Given the description of an element on the screen output the (x, y) to click on. 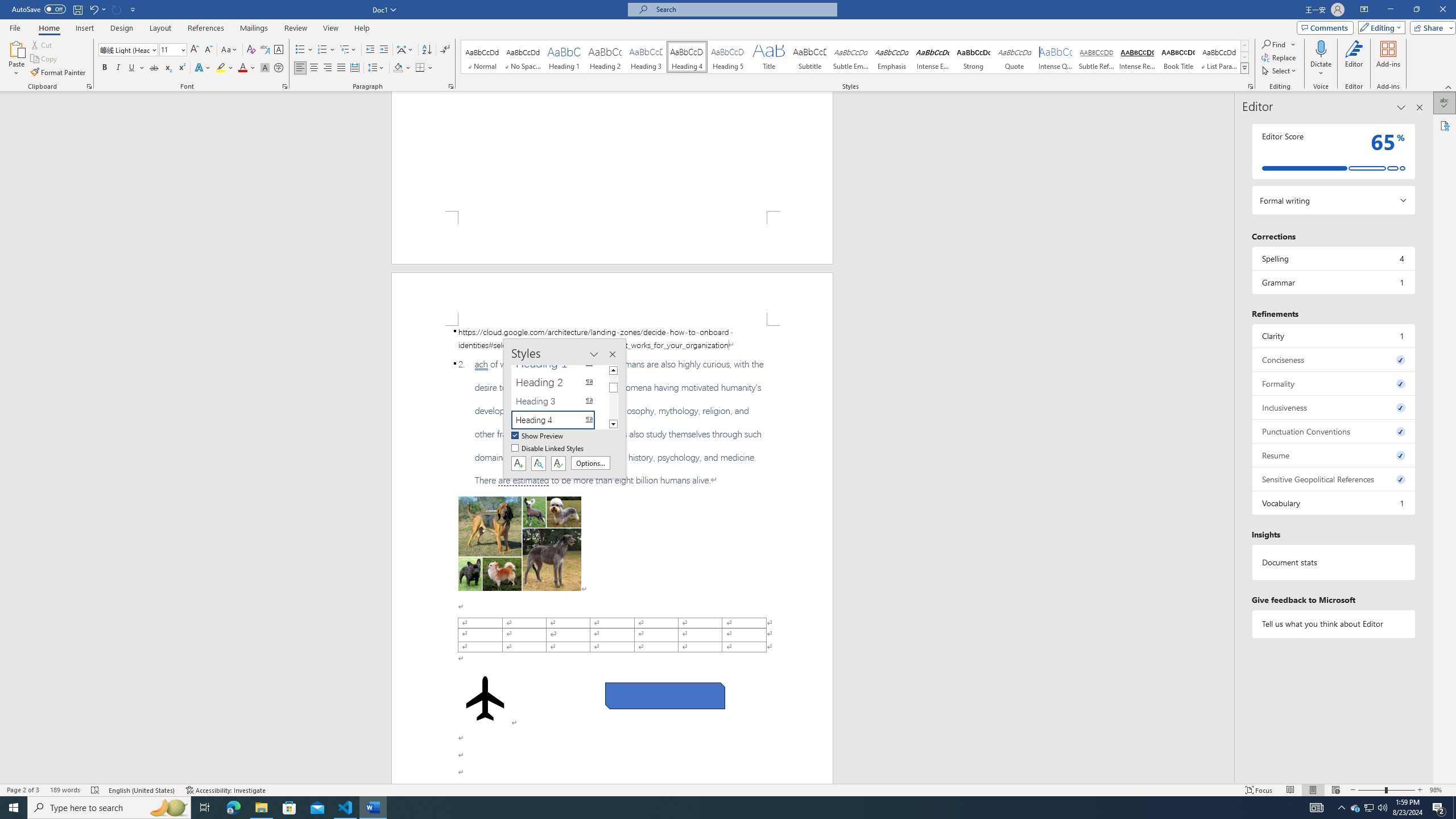
Subtle Reference (1095, 56)
Change Case (229, 49)
Class: NetUIButton (558, 463)
More Options (1320, 68)
Row Down (1244, 56)
Dictate (1320, 48)
Select (1279, 69)
Text Highlight Color (224, 67)
Editor Score 65% (1333, 151)
AutomationID: QuickStylesGallery (855, 56)
AutoSave (38, 9)
Office Clipboard... (88, 85)
System (6, 6)
Intense Quote (1055, 56)
